Given the description of an element on the screen output the (x, y) to click on. 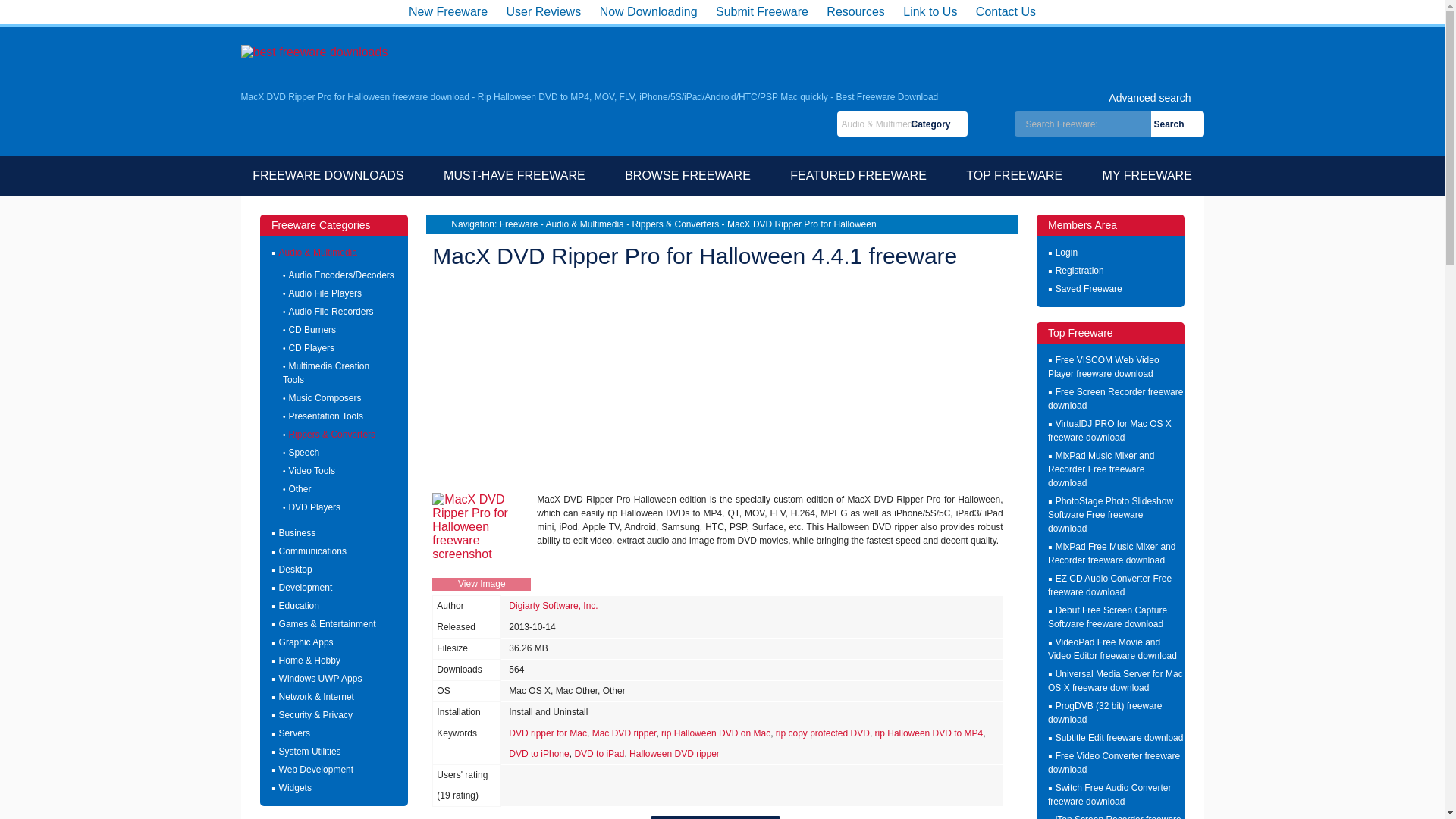
Featured Freeware (858, 174)
CD Players (311, 348)
Speech (303, 452)
BROWSE FREEWARE (325, 373)
Music Composers (687, 174)
User Reviews (324, 398)
User Reviews (542, 11)
Audio File Players (542, 11)
Advanced search (324, 293)
Resources (1020, 97)
Communications (855, 11)
Now Downloading (312, 551)
Advanced search (648, 11)
MUST-HAVE FREEWARE (1020, 97)
